Given the description of an element on the screen output the (x, y) to click on. 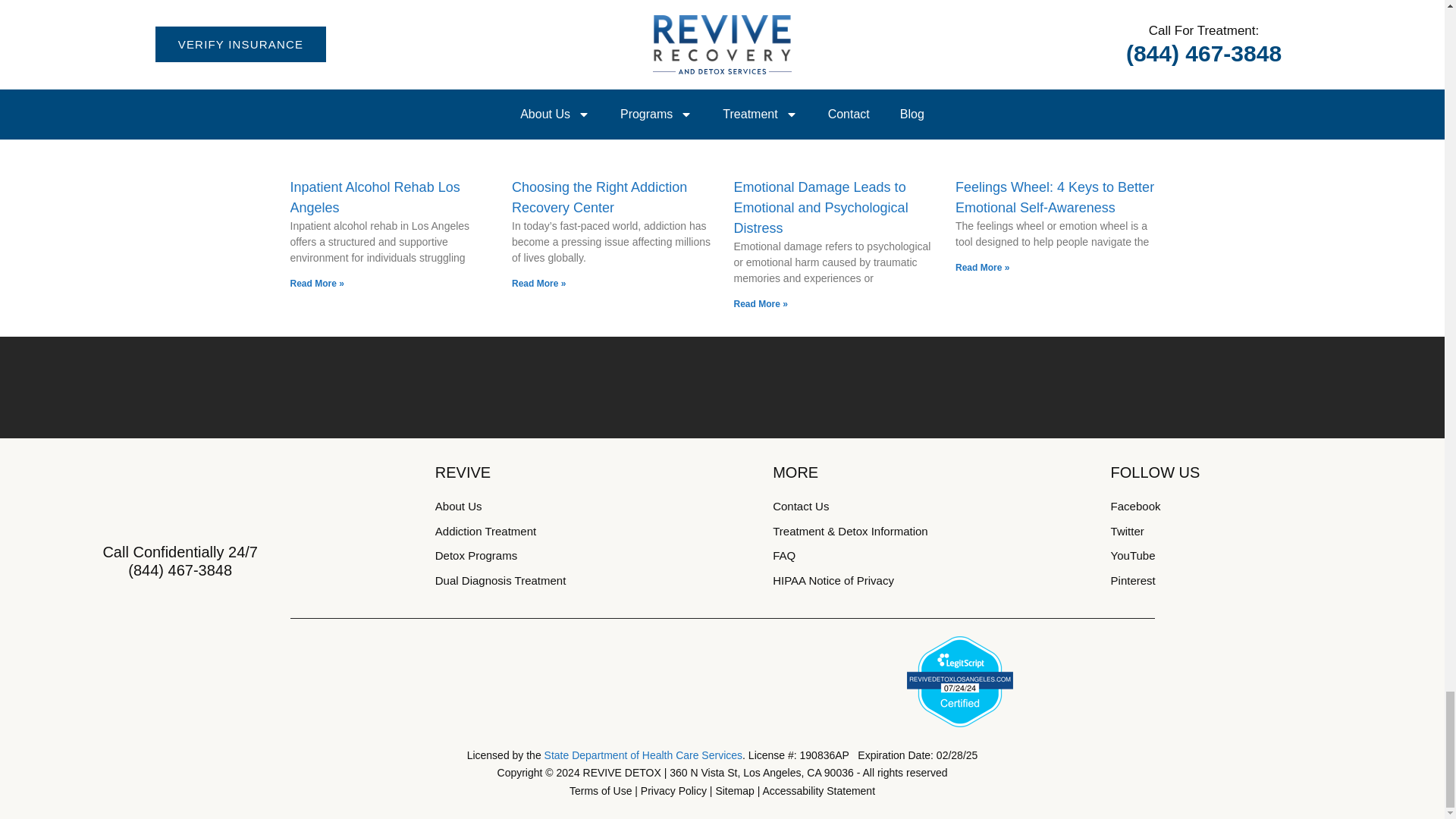
State Department of Health Care Services (643, 755)
